Given the description of an element on the screen output the (x, y) to click on. 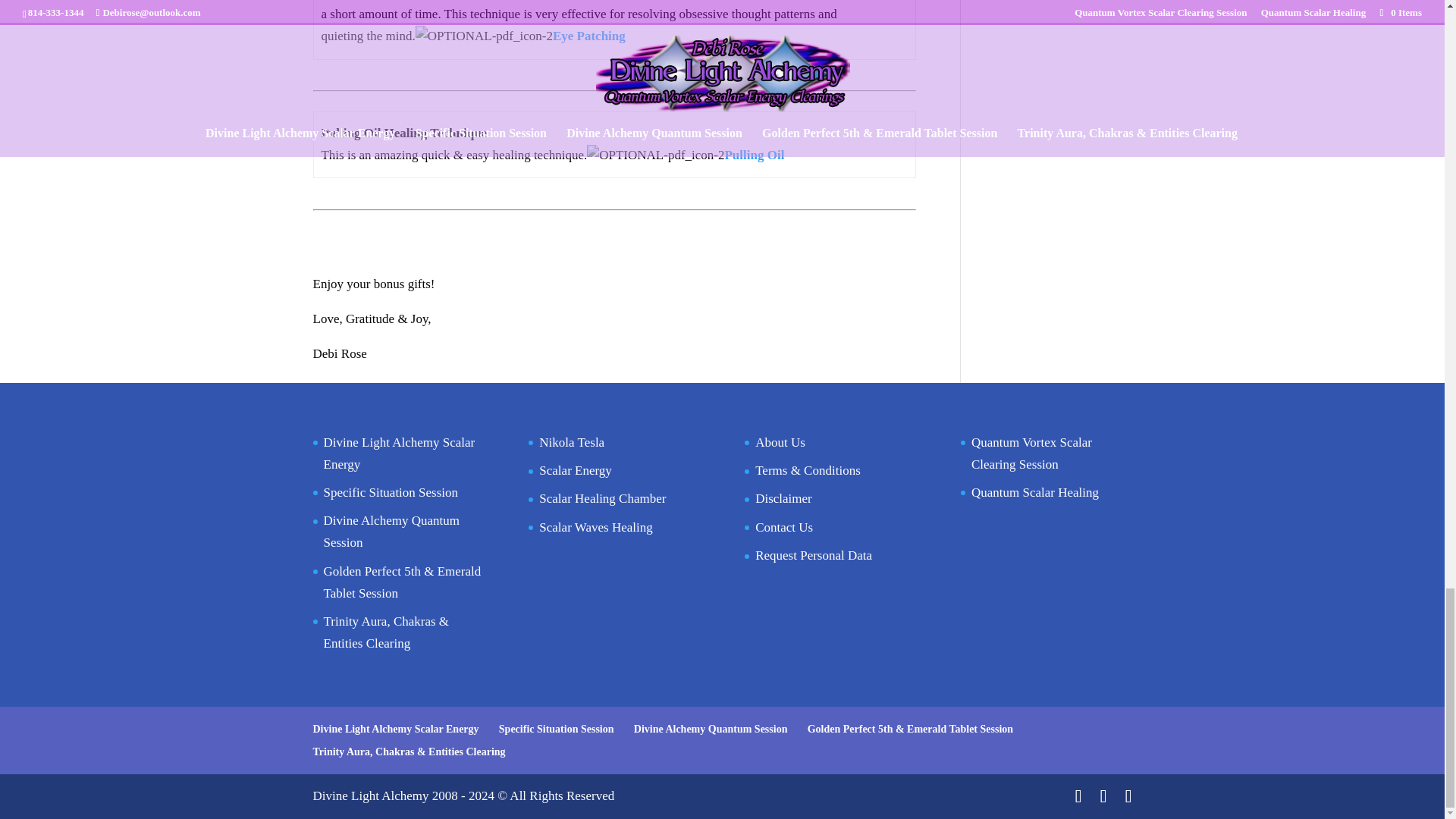
Divine Light Alchemy Scalar Energy (398, 452)
Nikola Tesla (571, 441)
Disclaimer (783, 498)
About Us (780, 441)
Scalar Healing Chamber (601, 498)
Eye Patching (589, 35)
Scalar Energy (574, 470)
Scalar Waves Healing (595, 527)
